Given the description of an element on the screen output the (x, y) to click on. 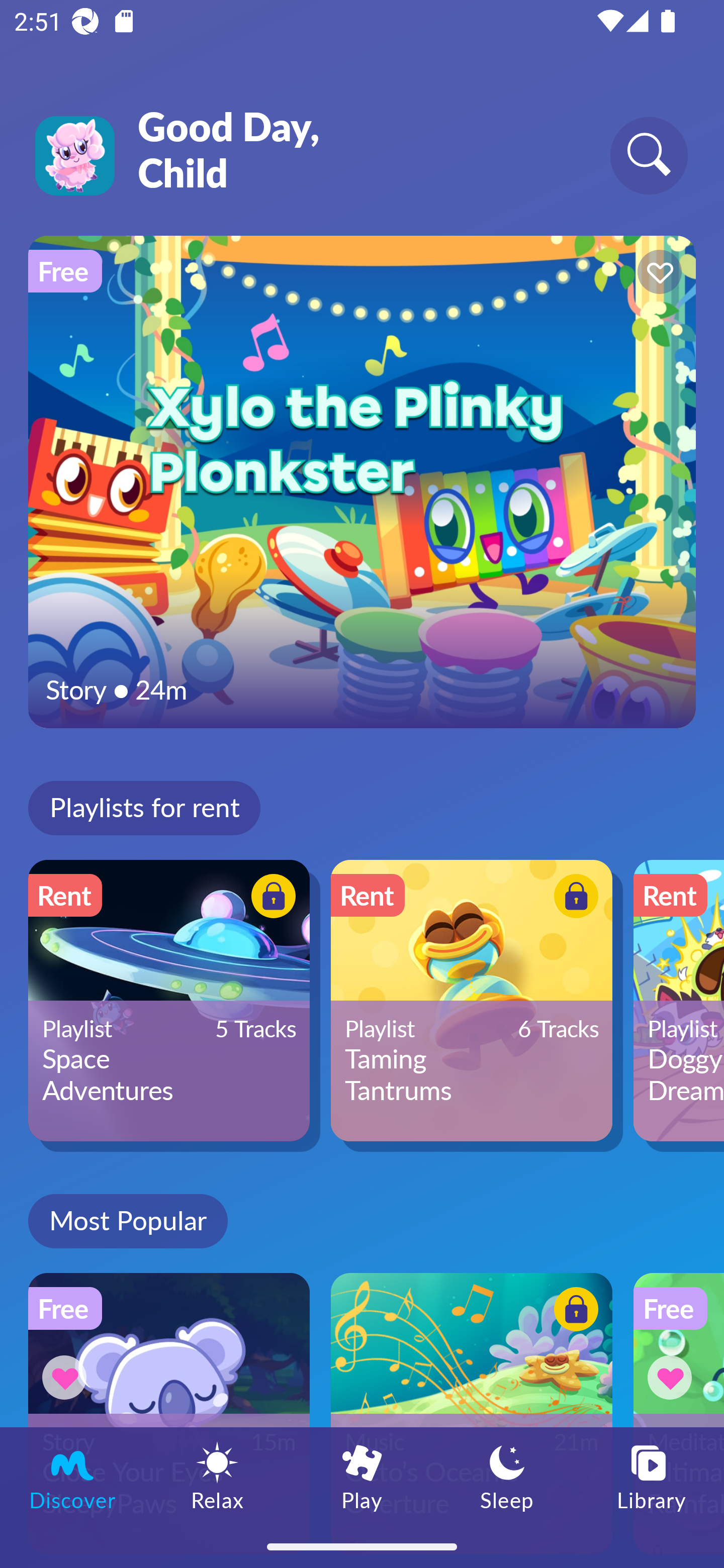
Search (648, 154)
Featured Content Free Button Story ● 24m (361, 481)
Button (656, 274)
Button (269, 898)
Button (573, 898)
Button (573, 1312)
Button (67, 1377)
Button (672, 1377)
Relax (216, 1475)
Play (361, 1475)
Sleep (506, 1475)
Library (651, 1475)
